Given the description of an element on the screen output the (x, y) to click on. 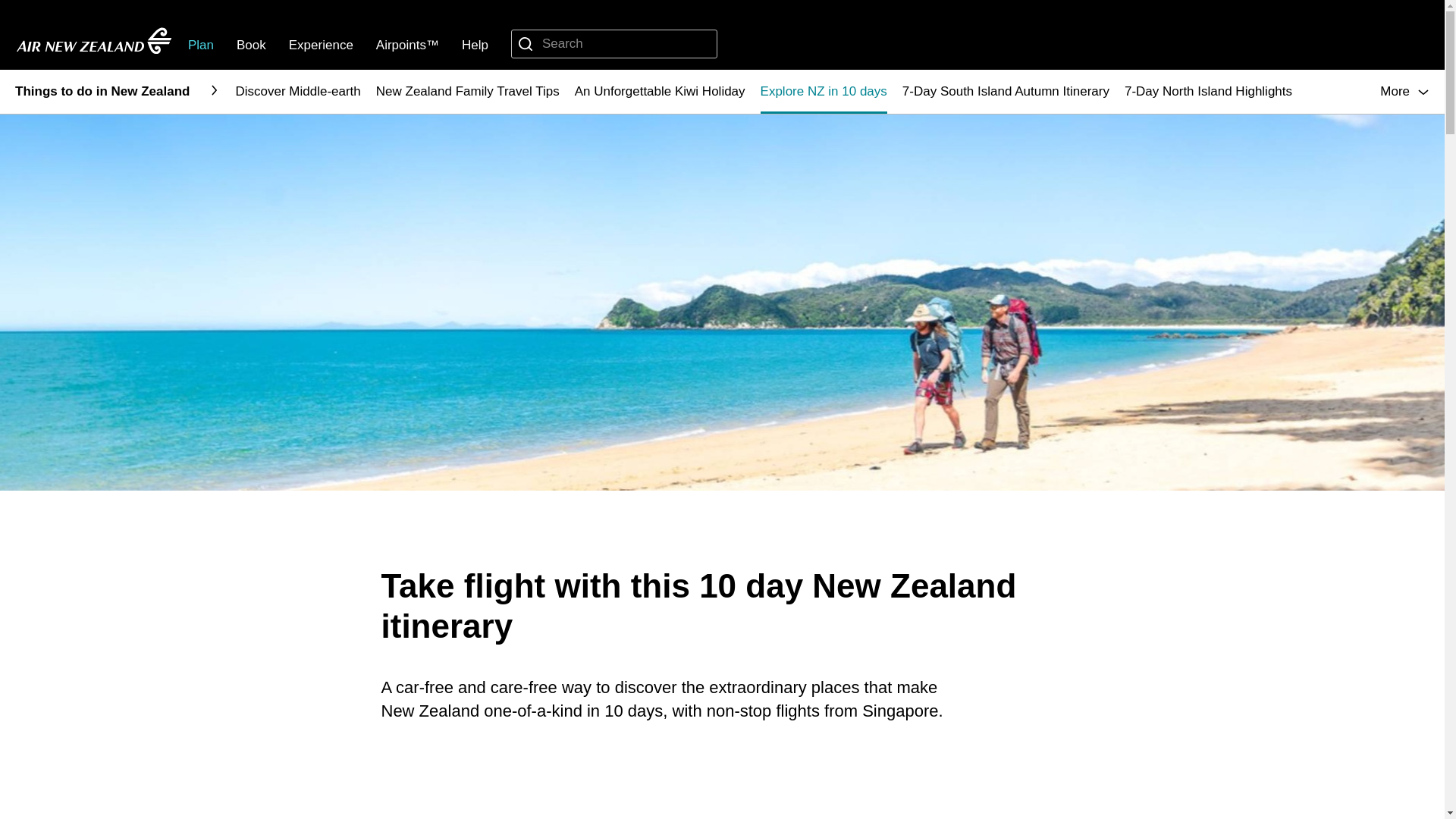
Plan (200, 44)
Book (250, 44)
